Given the description of an element on the screen output the (x, y) to click on. 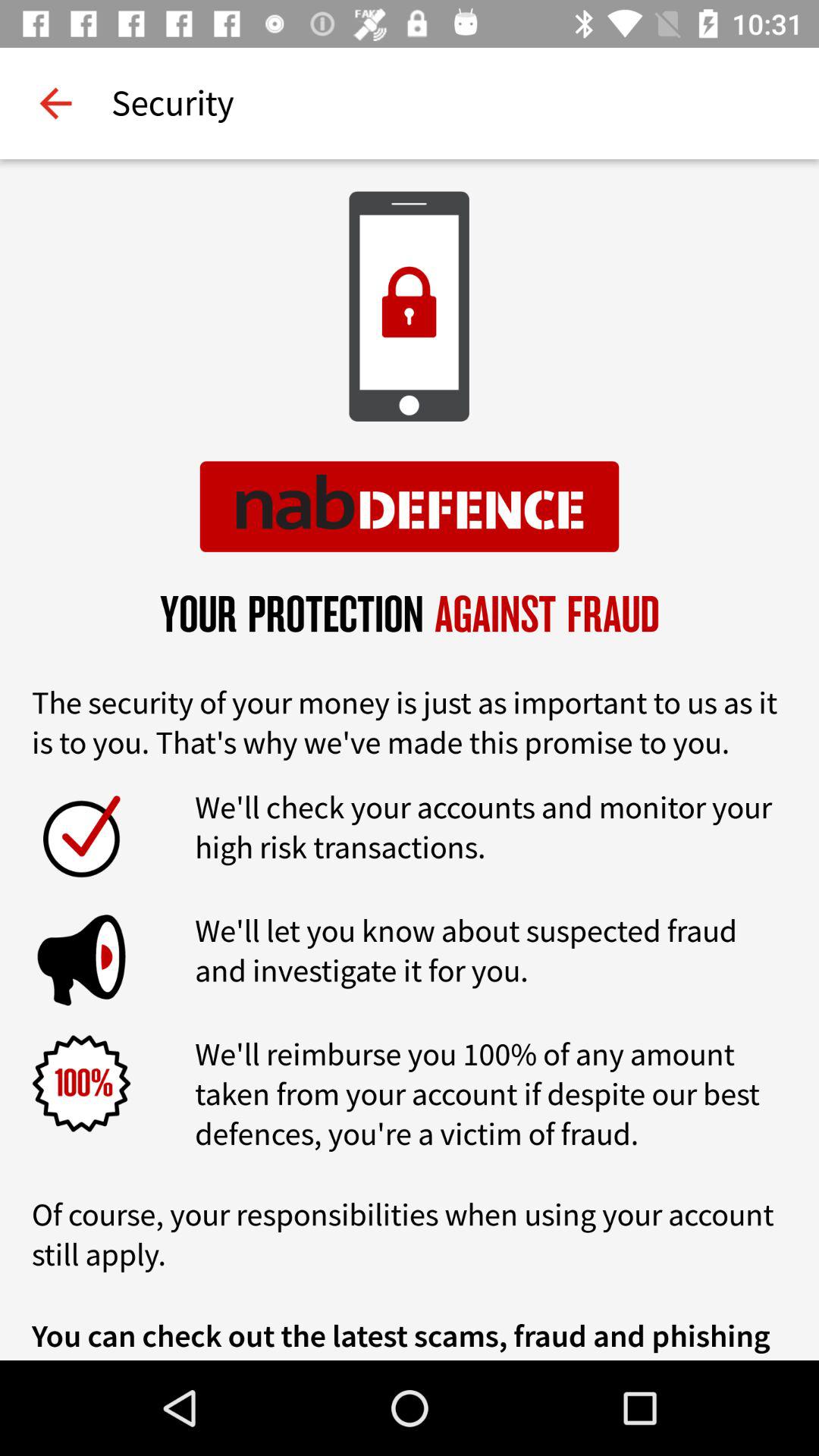
open item to the left of the security item (55, 103)
